Given the description of an element on the screen output the (x, y) to click on. 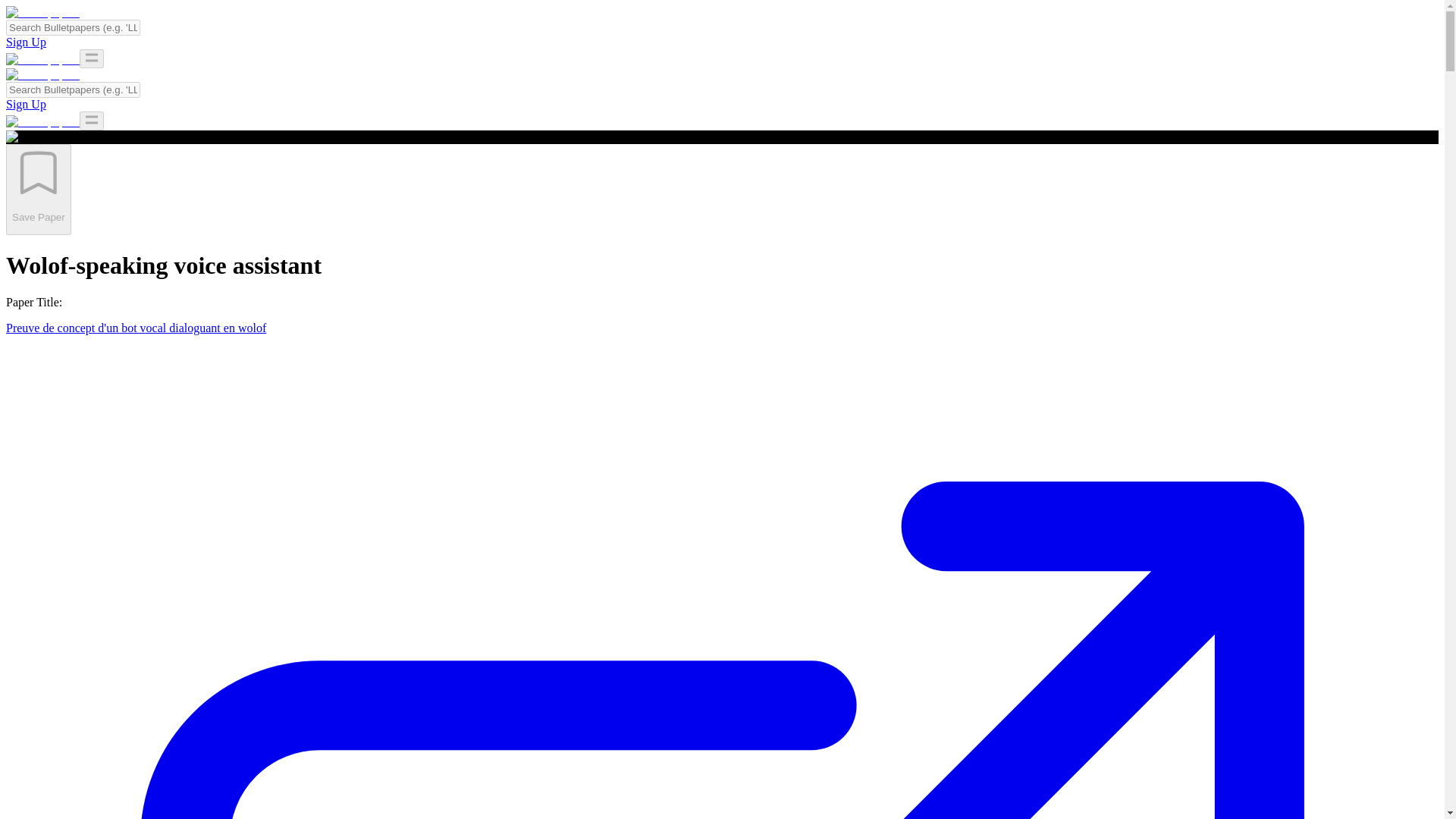
Sign Up (25, 103)
Sign Up (25, 42)
